Given the description of an element on the screen output the (x, y) to click on. 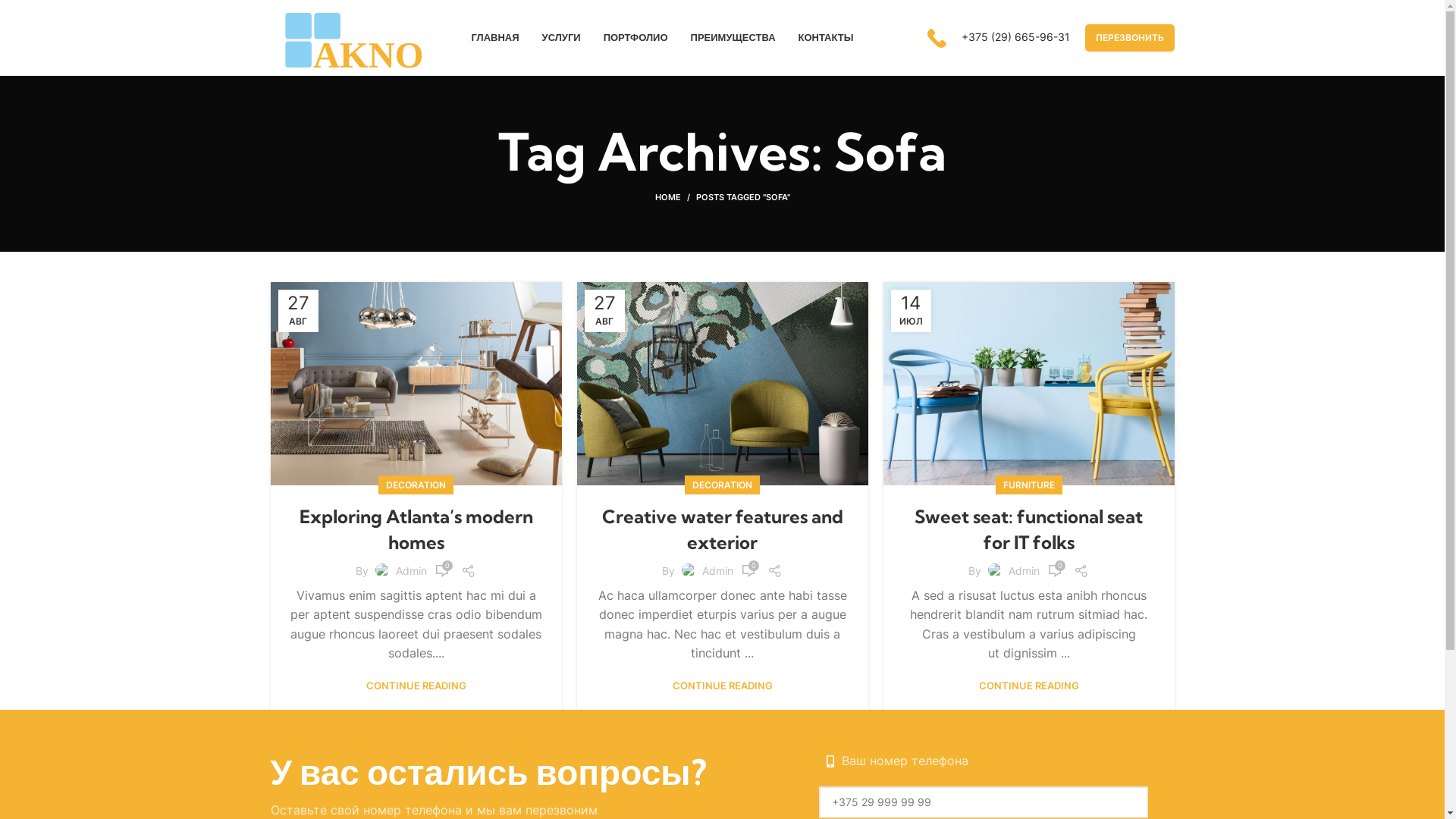
+375 (29) 665-96-31 Element type: text (997, 37)
Sweet seat: functional seat for IT folks Element type: text (1028, 529)
CONTINUE READING Element type: text (1028, 685)
DECORATION Element type: text (722, 484)
0 Element type: text (441, 570)
CONTINUE READING Element type: text (415, 685)
CONTINUE READING Element type: text (721, 685)
Admin Element type: text (717, 570)
HOME Element type: text (675, 197)
0 Element type: text (748, 570)
FURNITURE Element type: text (1028, 484)
0 Element type: text (1054, 570)
Admin Element type: text (1023, 570)
DECORATION Element type: text (415, 484)
Admin Element type: text (410, 570)
Creative water features and exterior Element type: text (722, 529)
